Given the description of an element on the screen output the (x, y) to click on. 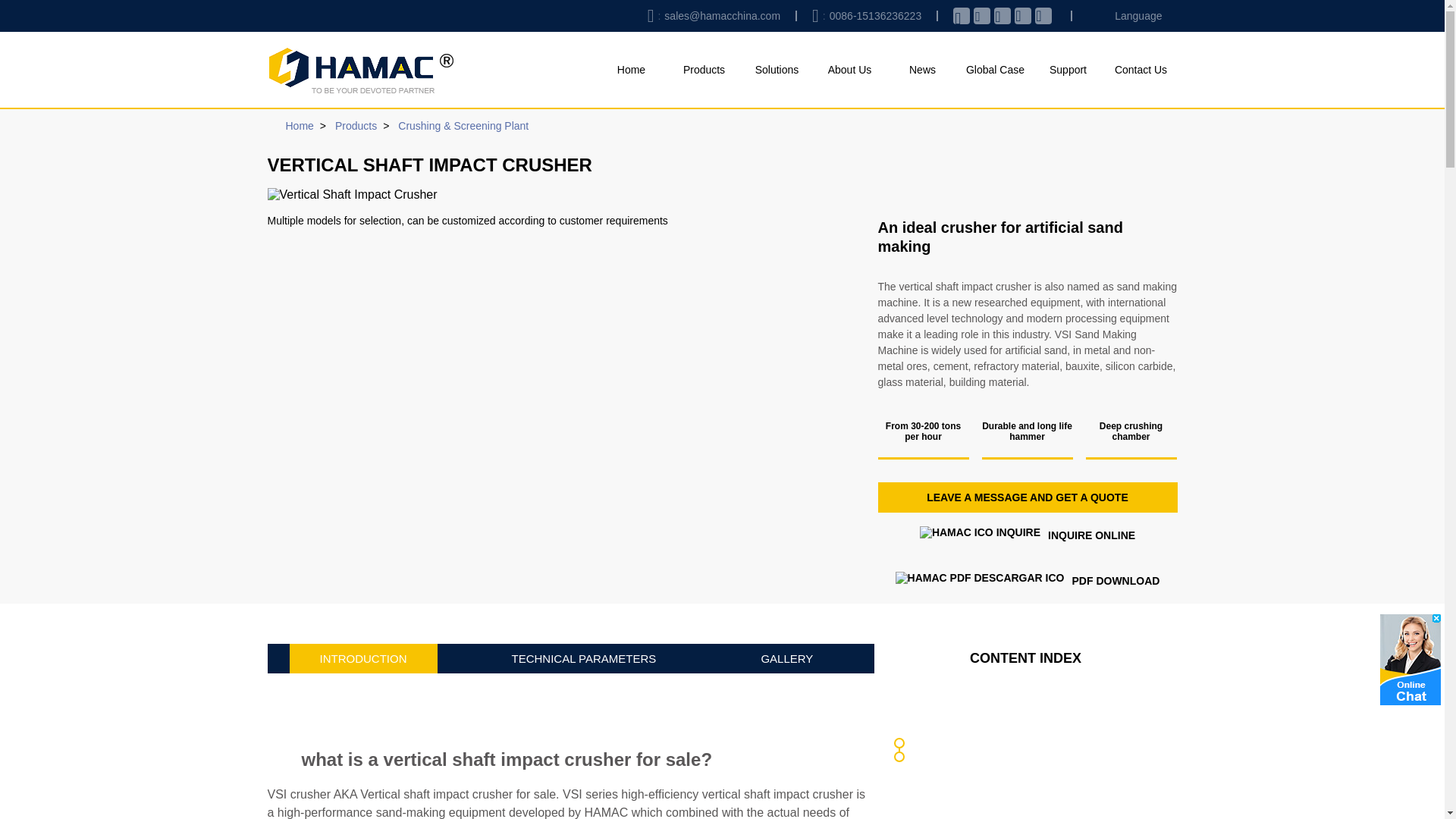
News (921, 69)
0086-15136236223 (871, 15)
About Us (848, 69)
Products (702, 69)
Support (1066, 69)
Solutions (775, 69)
Contact Us (1139, 69)
Home (630, 69)
Mining crushing machinery and concrete manufacturer (359, 69)
Global Case (994, 69)
